Given the description of an element on the screen output the (x, y) to click on. 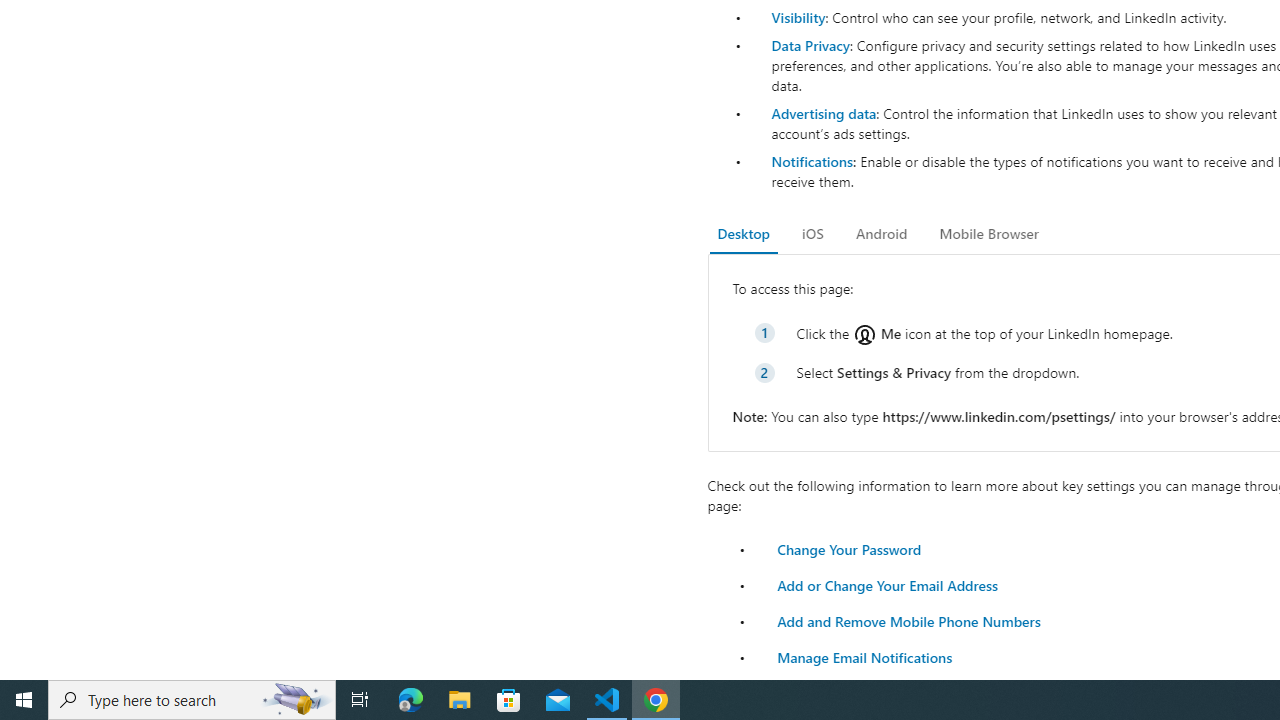
Data Privacy (809, 44)
Add and Remove Mobile Phone Numbers (908, 620)
Visibility (797, 17)
Mobile Browser (988, 234)
Advertising data (823, 112)
Notifications (811, 161)
Add or Change Your Email Address (887, 584)
Manage Email Notifications (864, 656)
Change Your Password (848, 548)
iOS (812, 234)
Android (881, 234)
Desktop (744, 234)
